Given the description of an element on the screen output the (x, y) to click on. 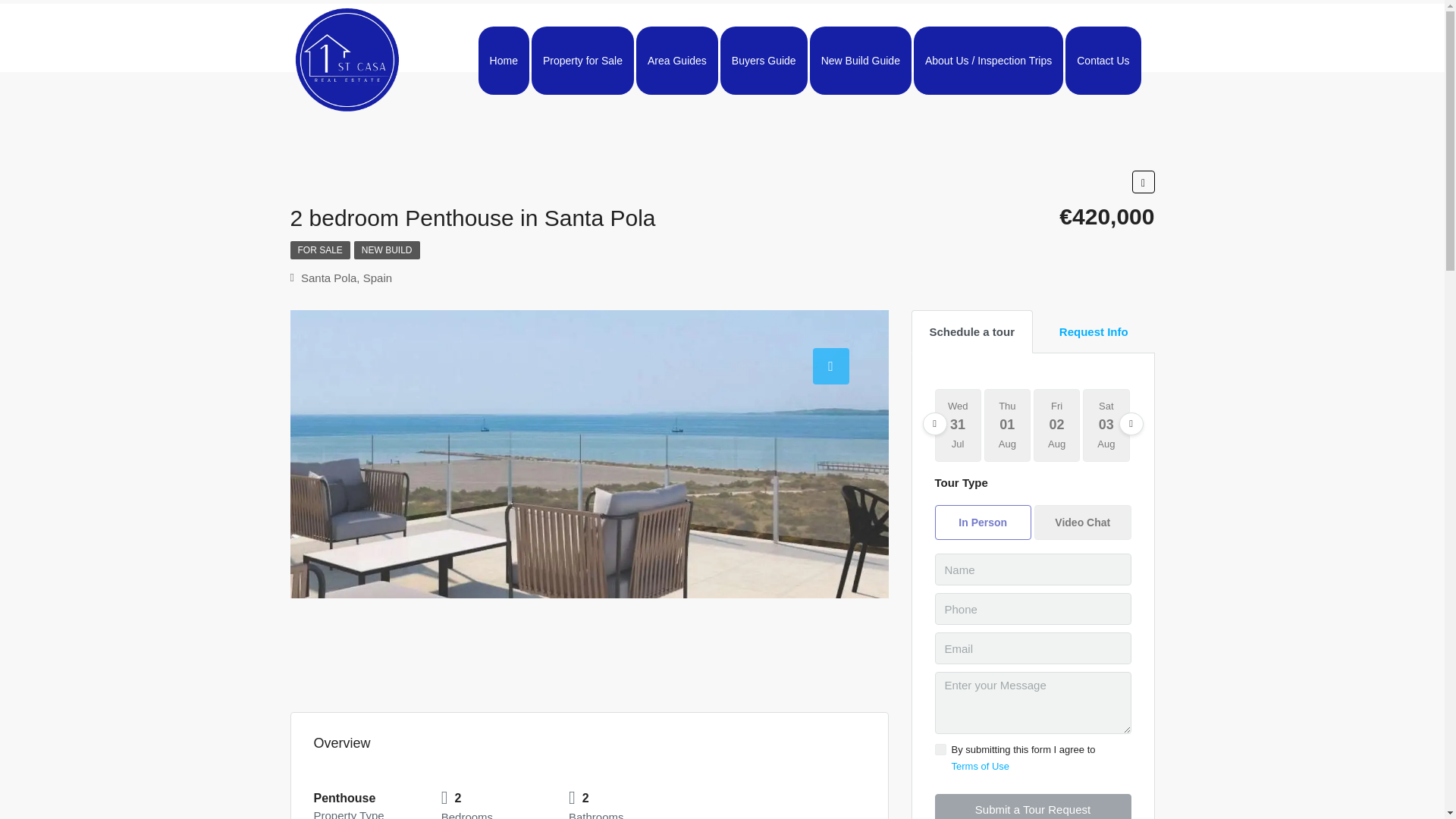
Property for Sale (582, 60)
Buyers Guide (764, 60)
Area Guides (676, 60)
NEW BUILD (386, 249)
Contact Us (1102, 60)
New Build Guide (860, 60)
FOR SALE (319, 249)
